Given the description of an element on the screen output the (x, y) to click on. 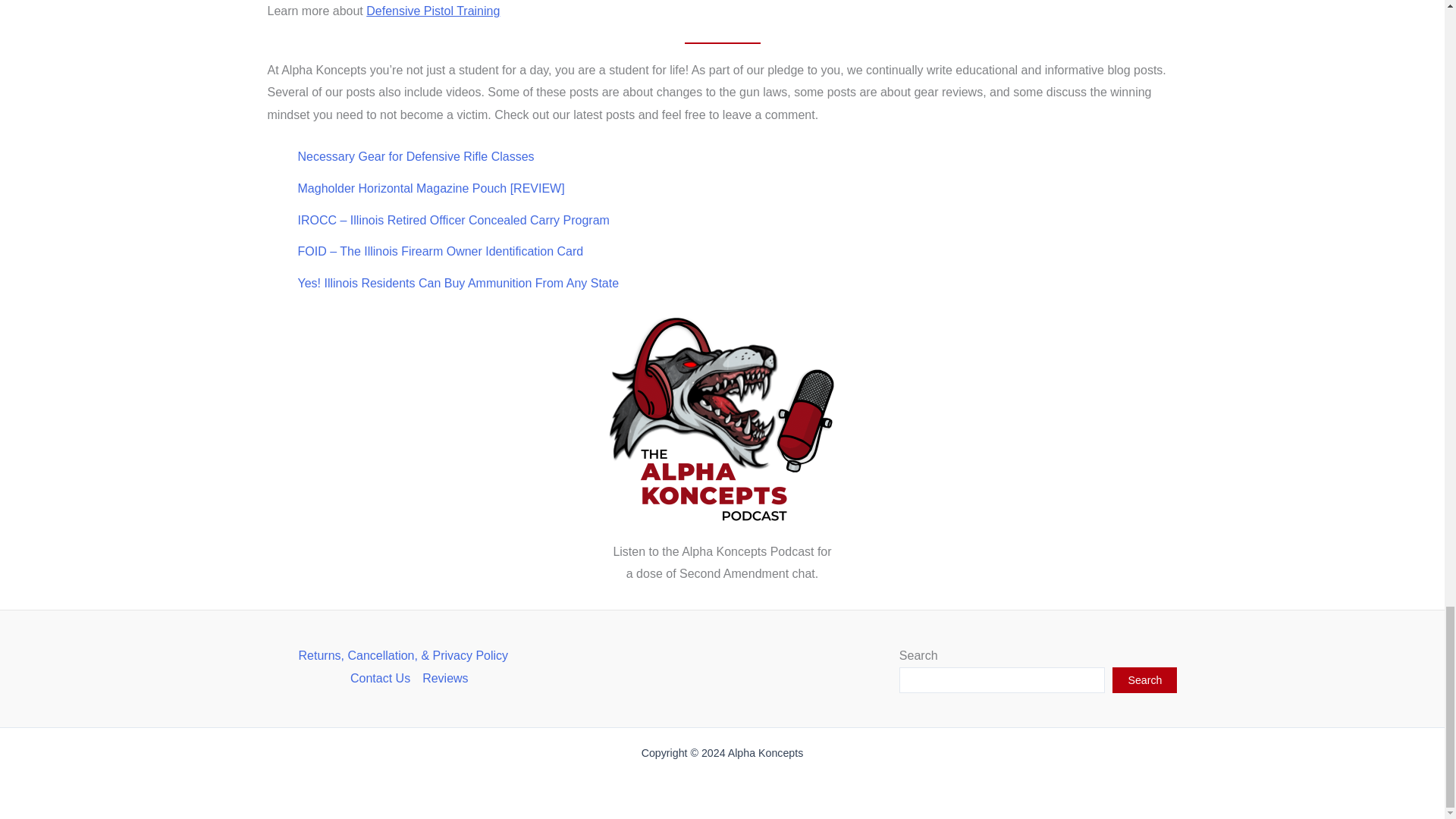
Yes! Illinois Residents Can Buy Ammunition From Any State (457, 282)
Defensive Pistol Training (432, 10)
Necessary Gear for Defensive Rifle Classes (415, 155)
